Given the description of an element on the screen output the (x, y) to click on. 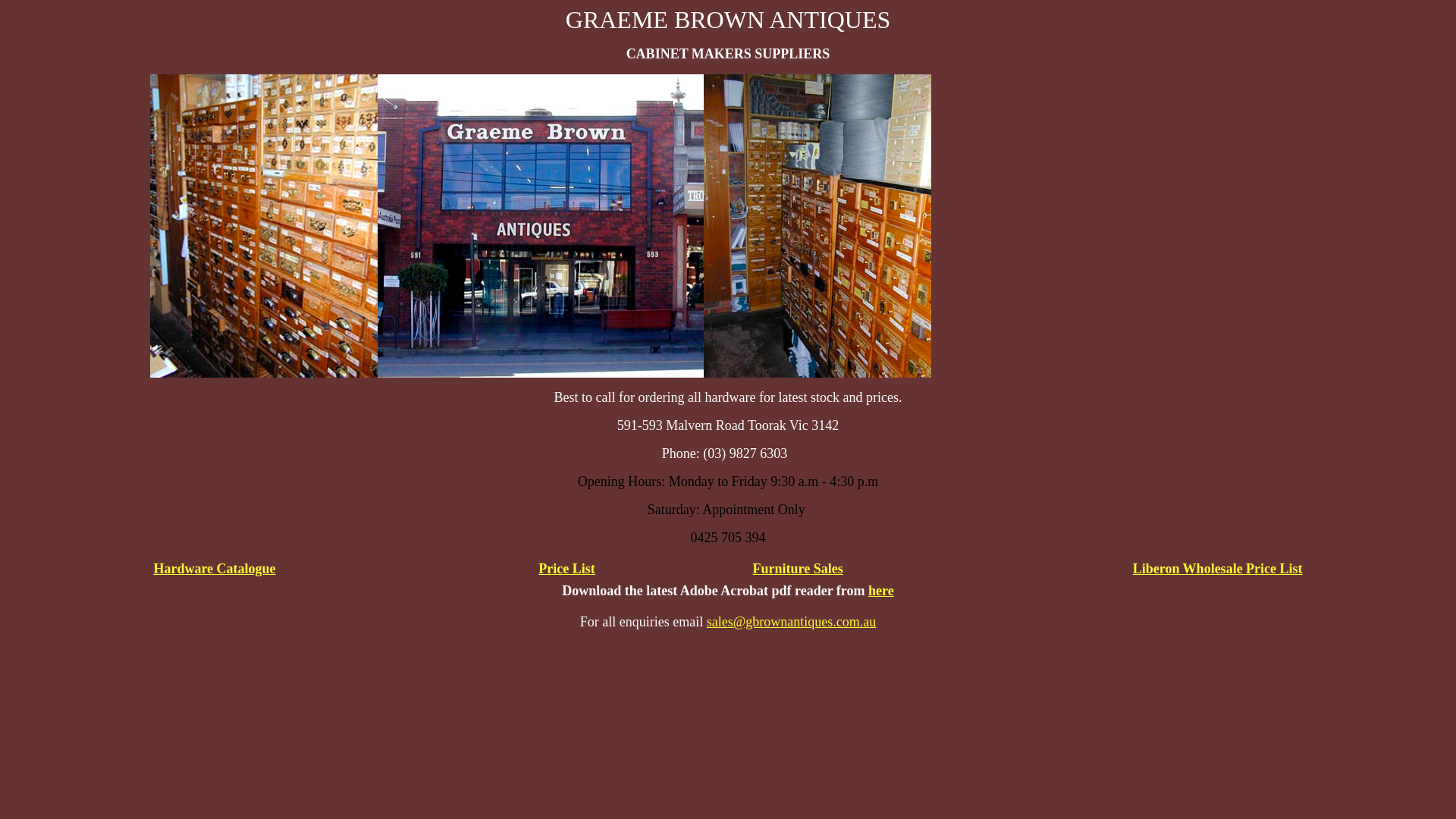
Price List Element type: text (566, 568)
Hardware Catalogue Element type: text (214, 568)
Furniture Sales Element type: text (798, 568)
Liberon Wholesale Price List Element type: text (1217, 568)
sales@gbrownantiques.com.au Element type: text (791, 621)
here Element type: text (881, 590)
